Given the description of an element on the screen output the (x, y) to click on. 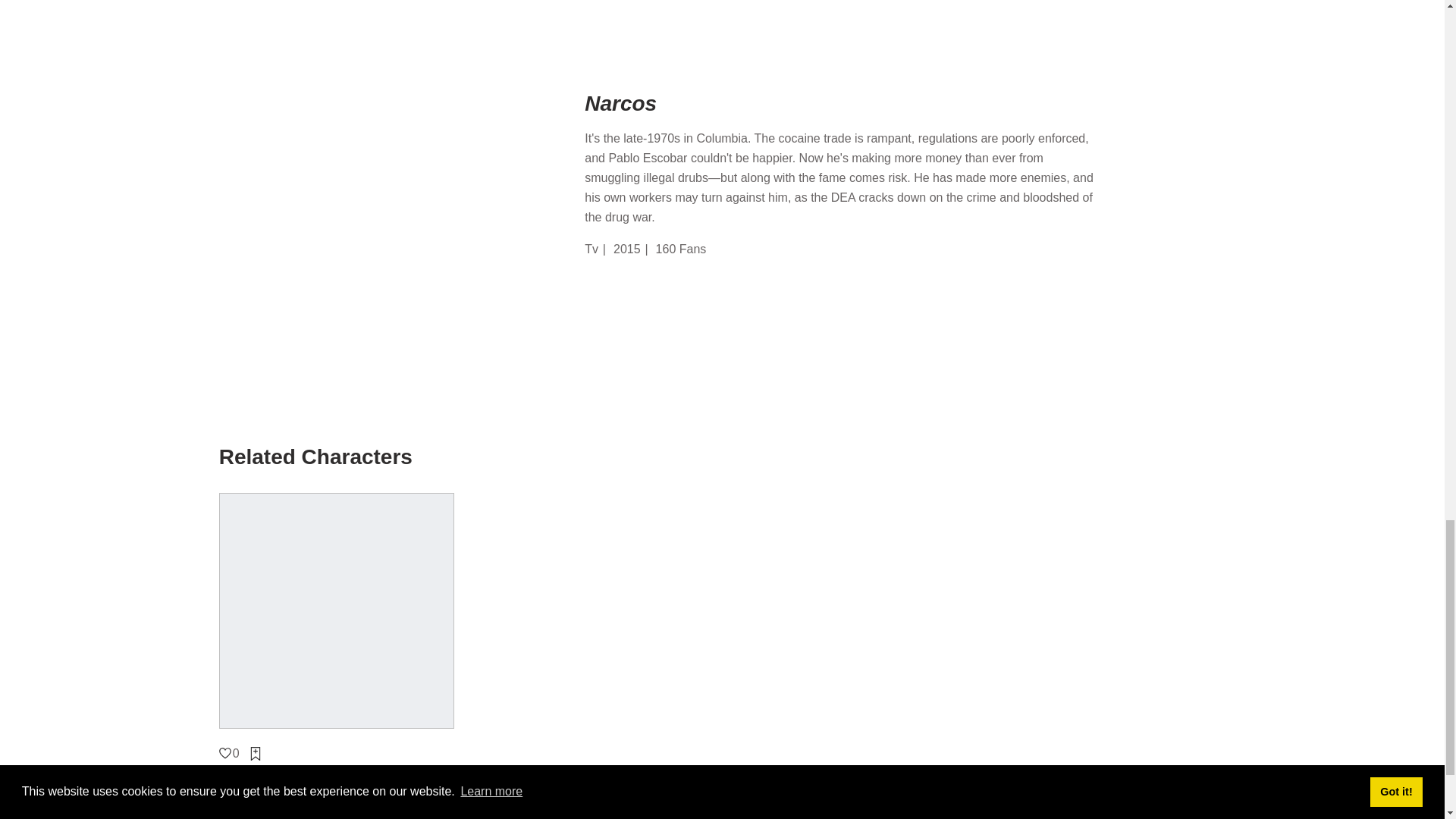
Narcos (882, 103)
